Given the description of an element on the screen output the (x, y) to click on. 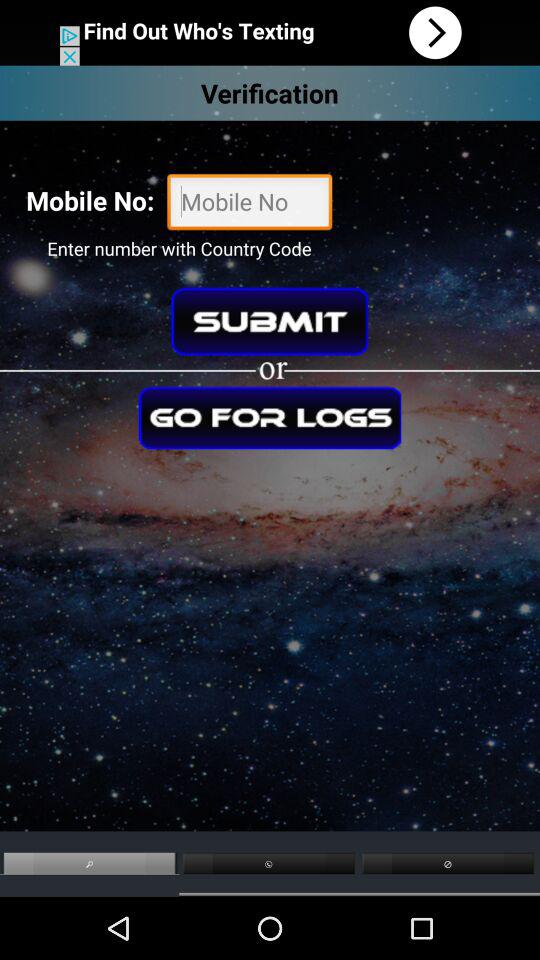
enter page (269, 417)
